Given the description of an element on the screen output the (x, y) to click on. 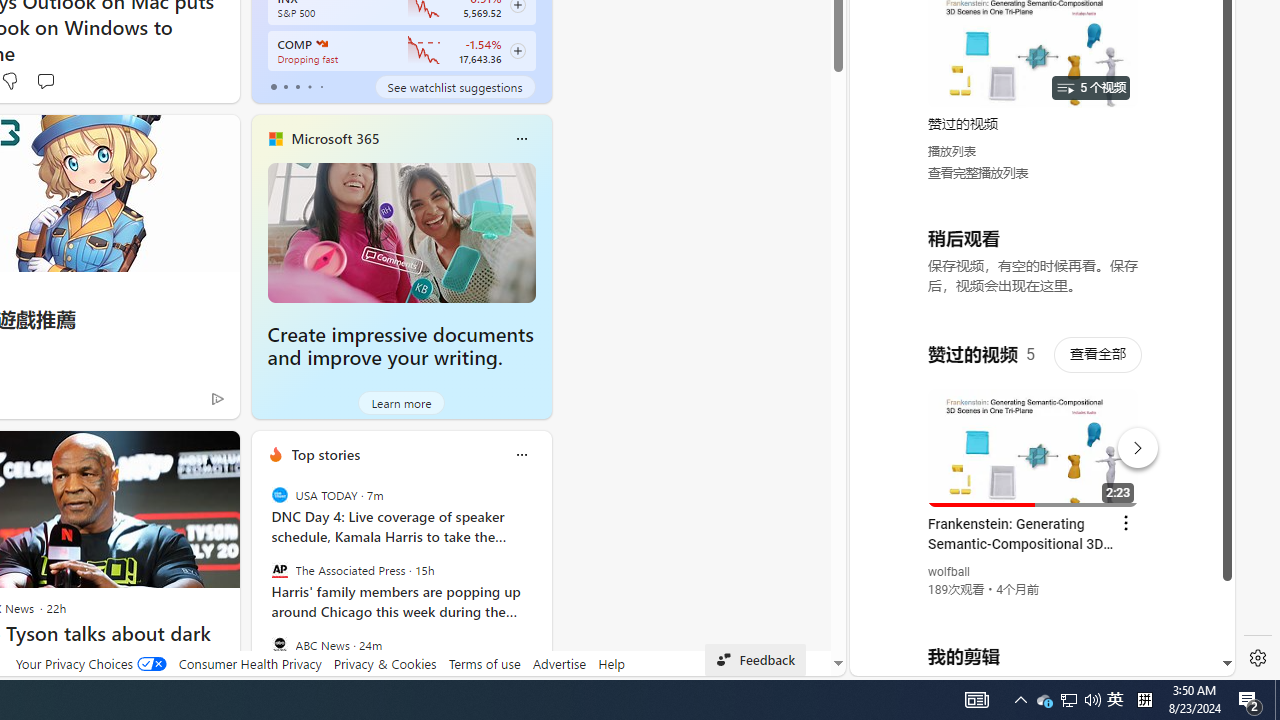
tab-3 (309, 86)
USA TODAY (279, 494)
ABC News (279, 644)
Class: follow-button  m (517, 51)
Class: dict_pnIcon rms_img (1028, 660)
Create impressive documents and improve your writing. (400, 346)
